Given the description of an element on the screen output the (x, y) to click on. 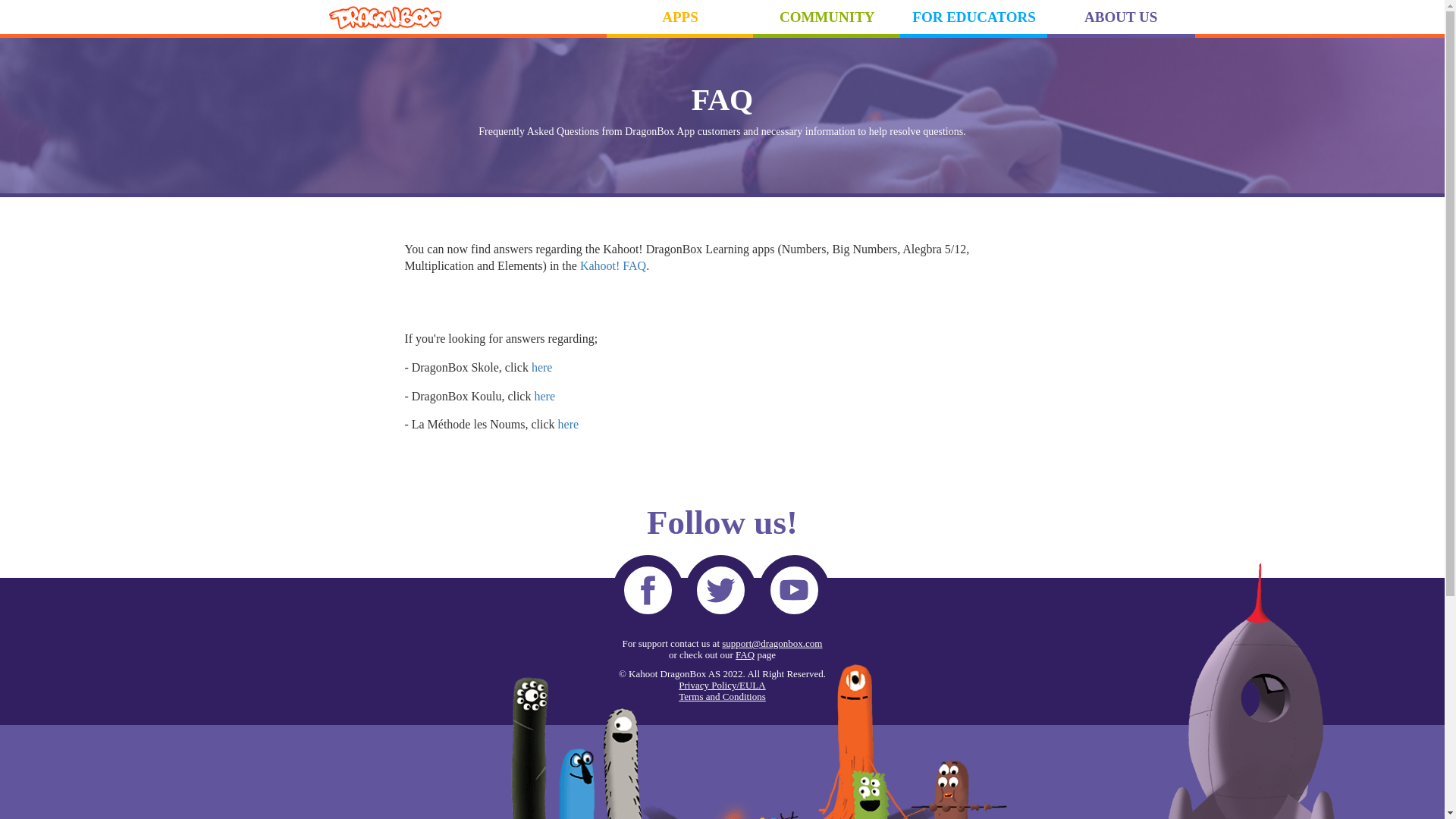
here (542, 367)
APPS (680, 17)
ABOUT US (1120, 17)
Kahoot! FAQ (612, 265)
here (568, 423)
COMMUNITY (826, 17)
here (544, 395)
FOR EDUCATORS (973, 17)
